Given the description of an element on the screen output the (x, y) to click on. 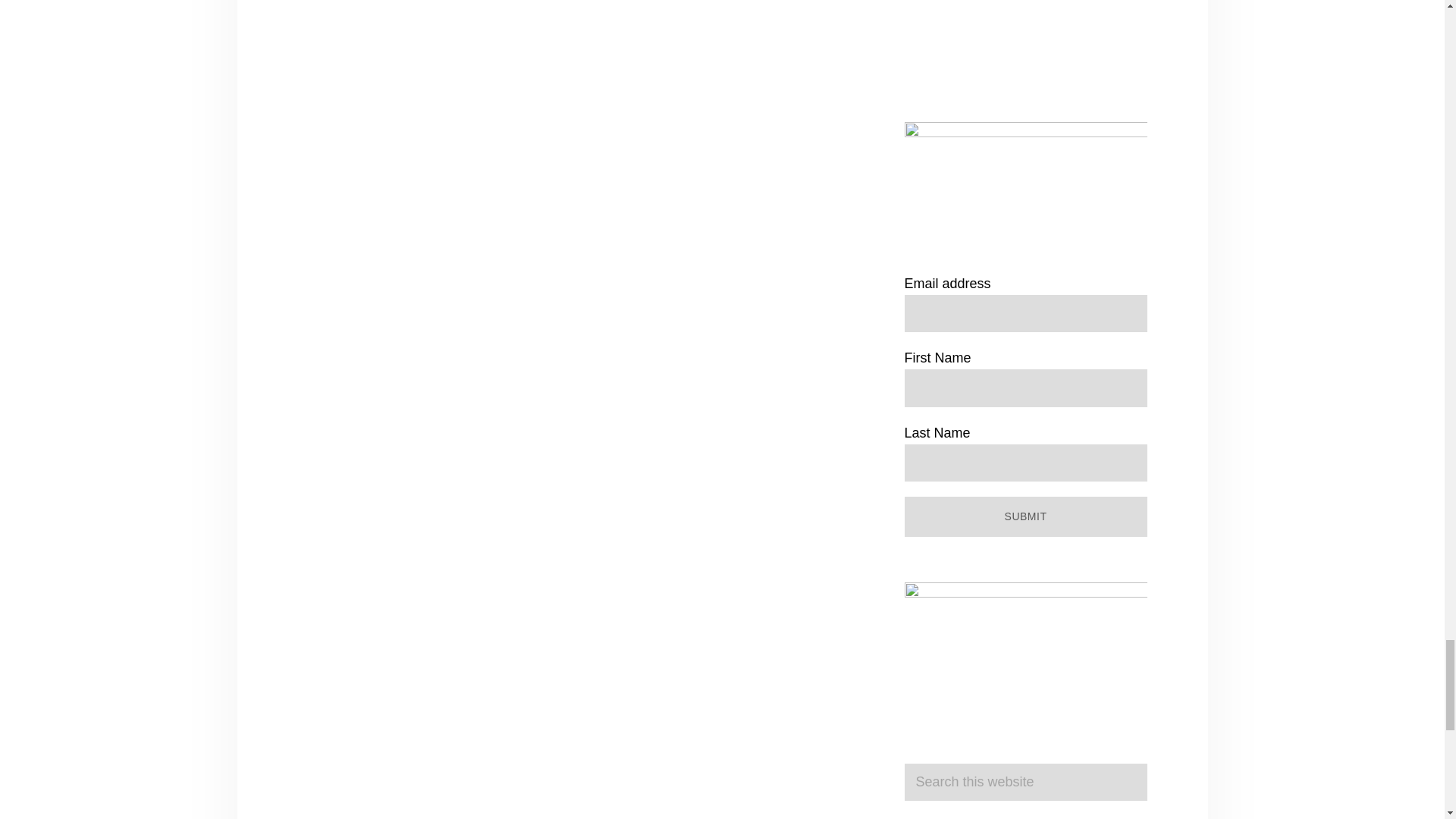
Submit (1025, 516)
